Given the description of an element on the screen output the (x, y) to click on. 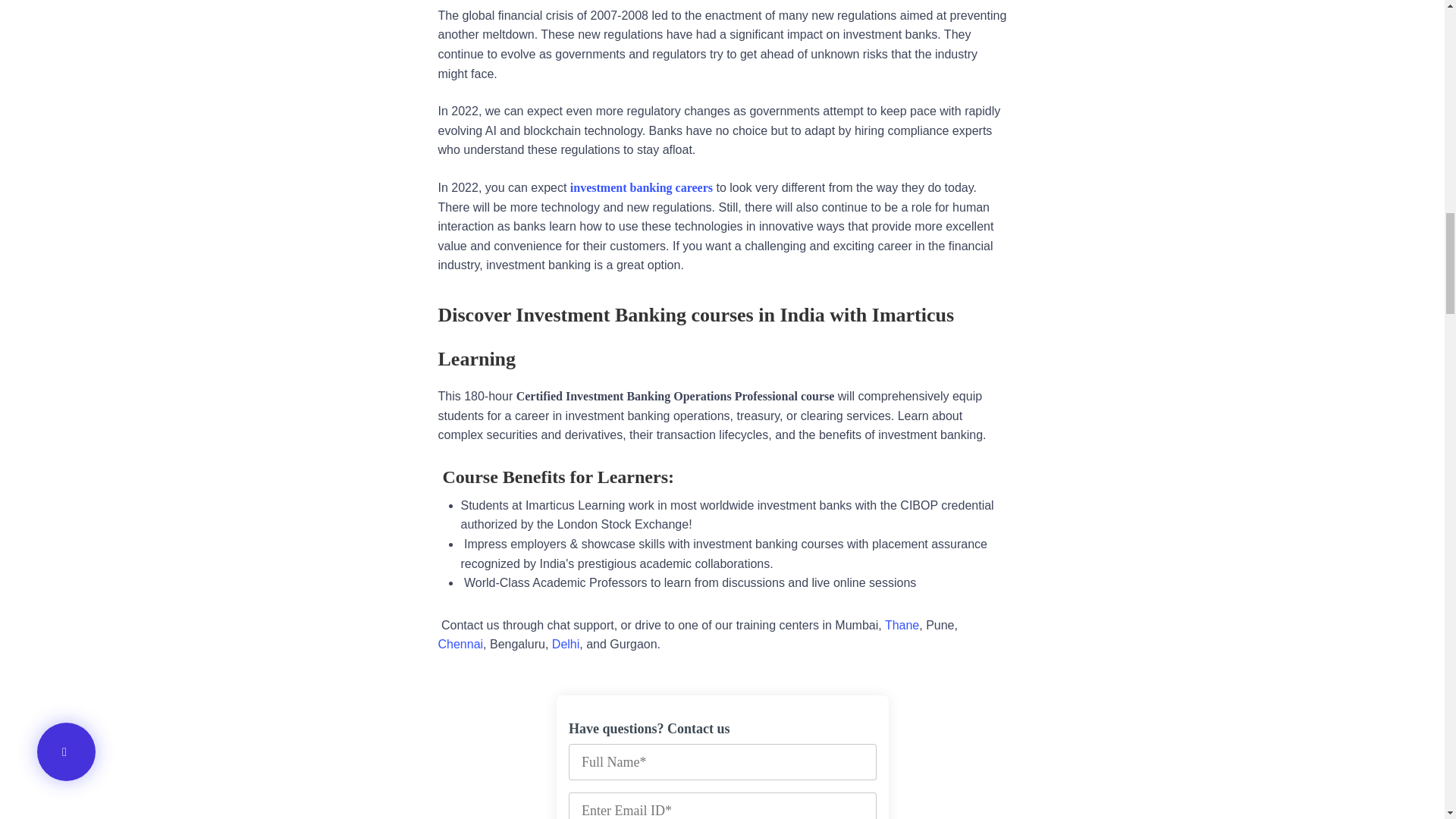
Chennai (460, 644)
investment banking careers (641, 187)
Thane (901, 625)
Delhi (565, 644)
